Given the description of an element on the screen output the (x, y) to click on. 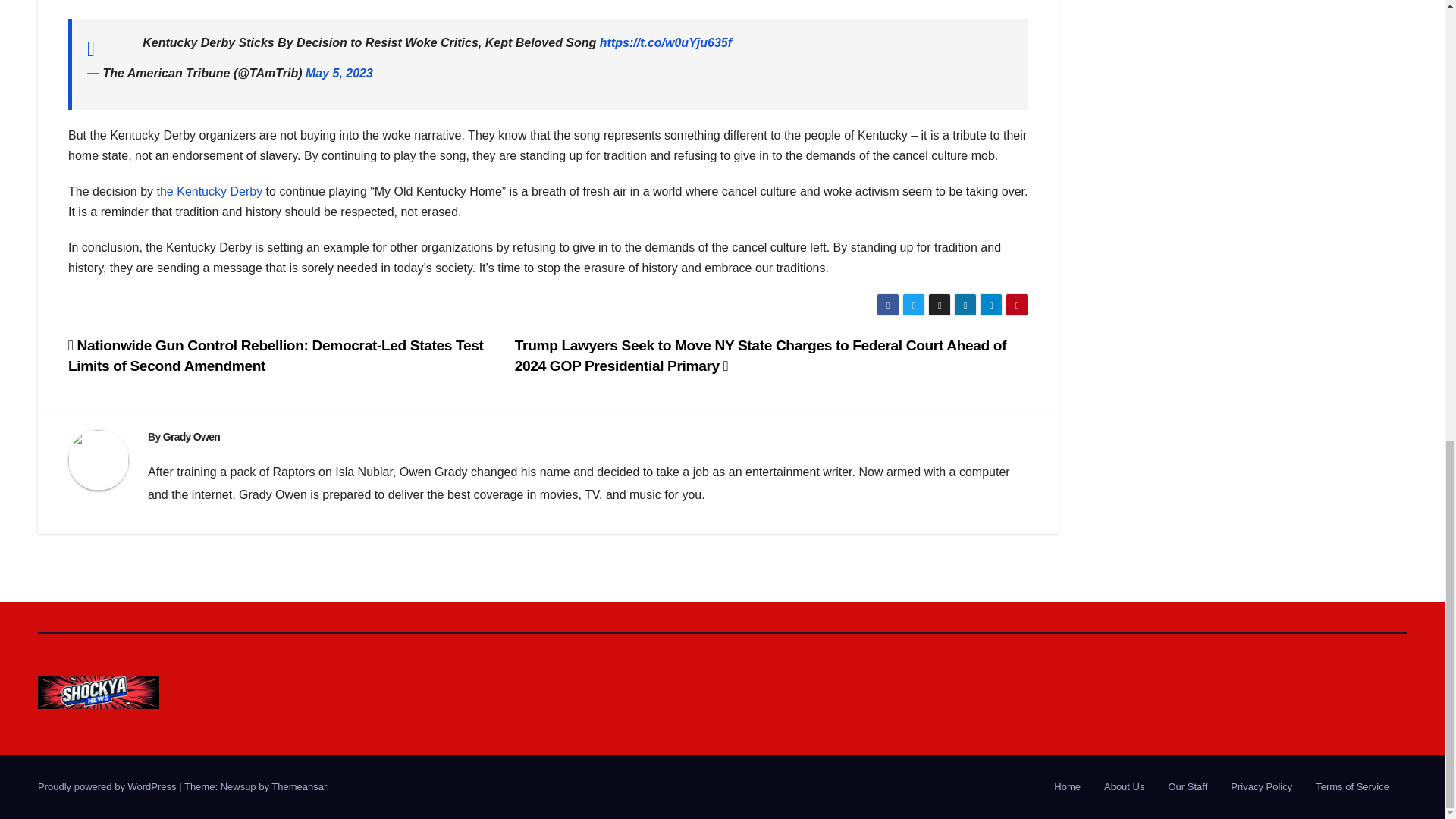
May 5, 2023 (338, 72)
Home (1067, 786)
the Kentucky Derby (210, 191)
